Given the description of an element on the screen output the (x, y) to click on. 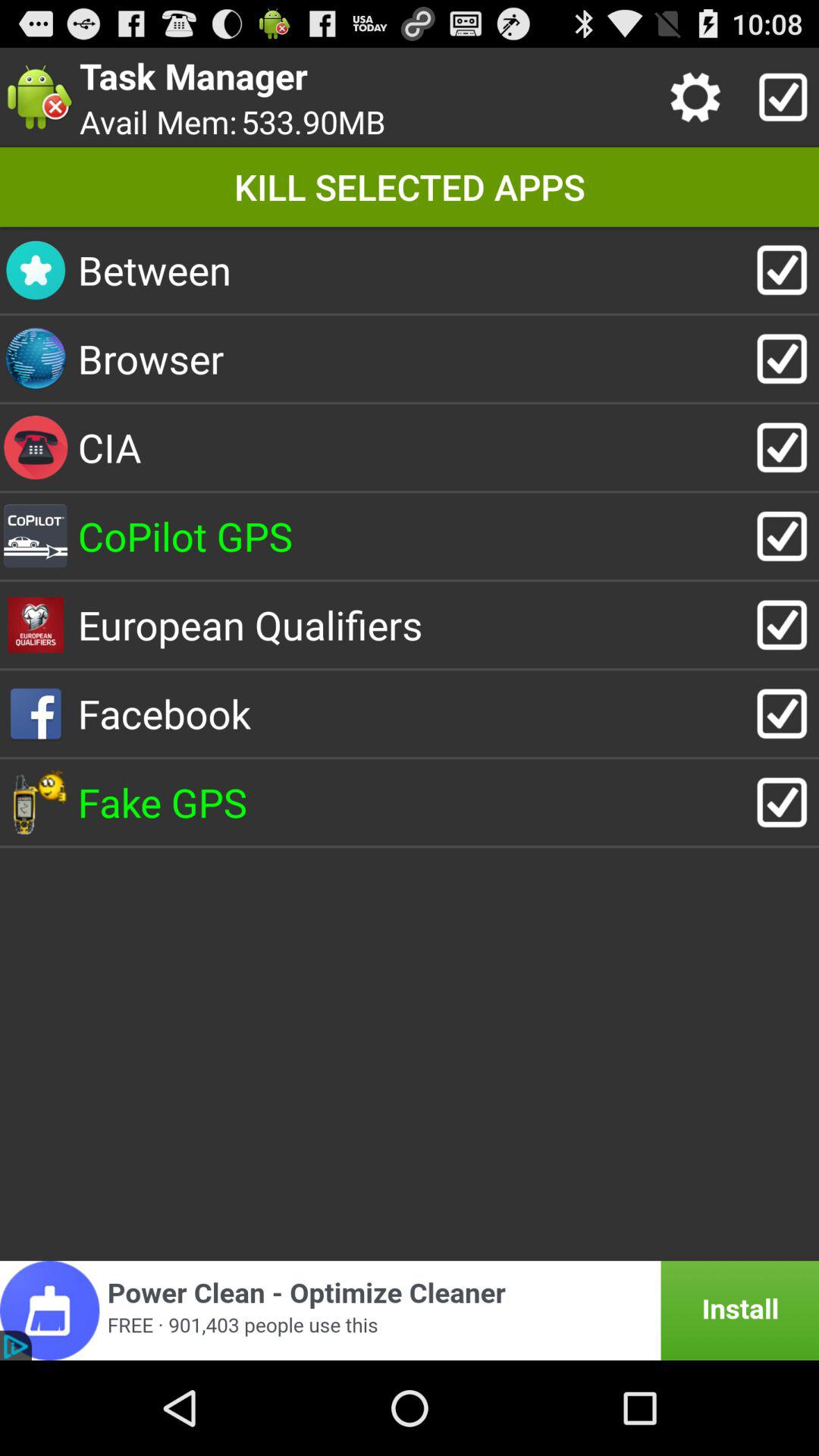
settings icon (699, 97)
